Given the description of an element on the screen output the (x, y) to click on. 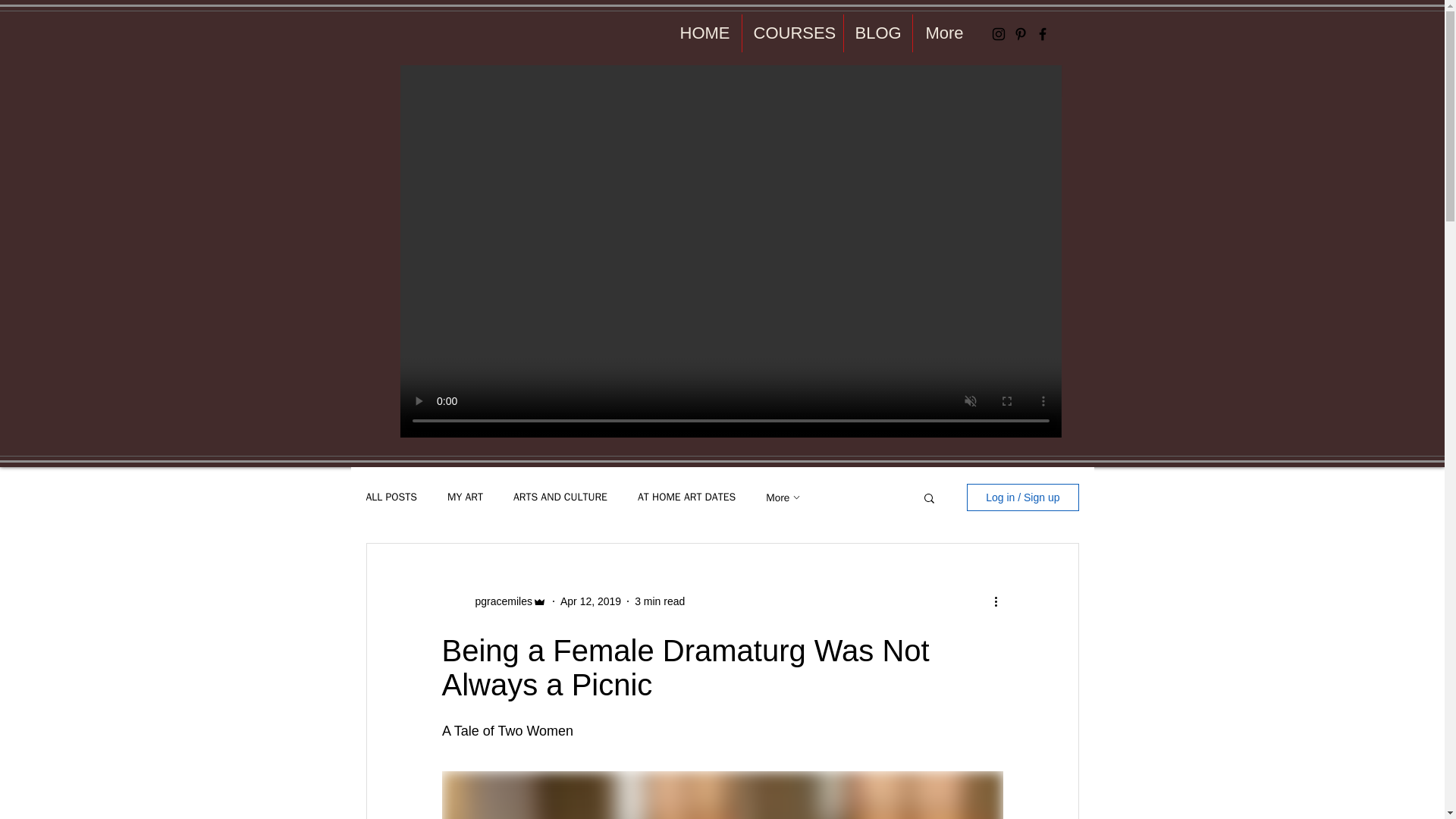
pgracemiles (498, 600)
HOME (703, 33)
COURSES (792, 33)
3 min read (659, 600)
AT HOME ART DATES (686, 497)
ARTS AND CULTURE (560, 497)
Apr 12, 2019 (590, 600)
ALL POSTS (390, 497)
MY ART (464, 497)
BLOG (877, 33)
